Given the description of an element on the screen output the (x, y) to click on. 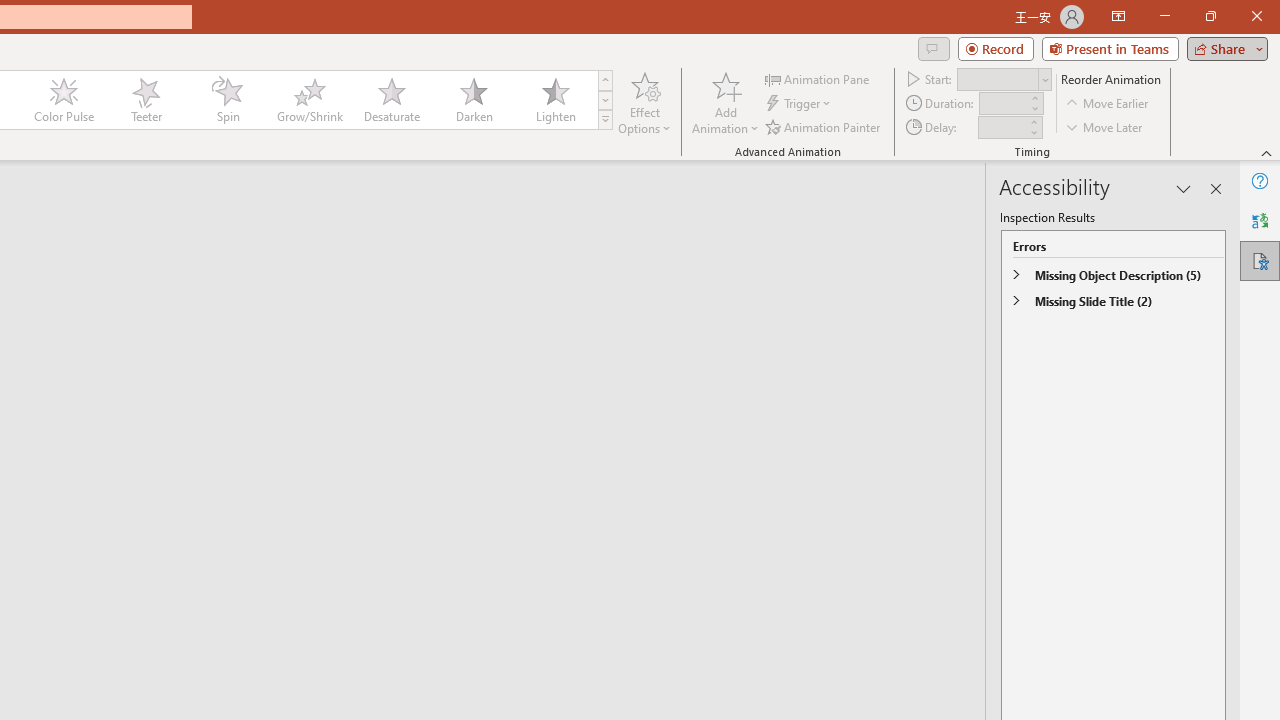
Grow/Shrink (309, 100)
Effect Options (644, 102)
Spin (227, 100)
Animation Painter (824, 126)
Color Pulse (63, 100)
Darken (473, 100)
Animation Pane (818, 78)
